Given the description of an element on the screen output the (x, y) to click on. 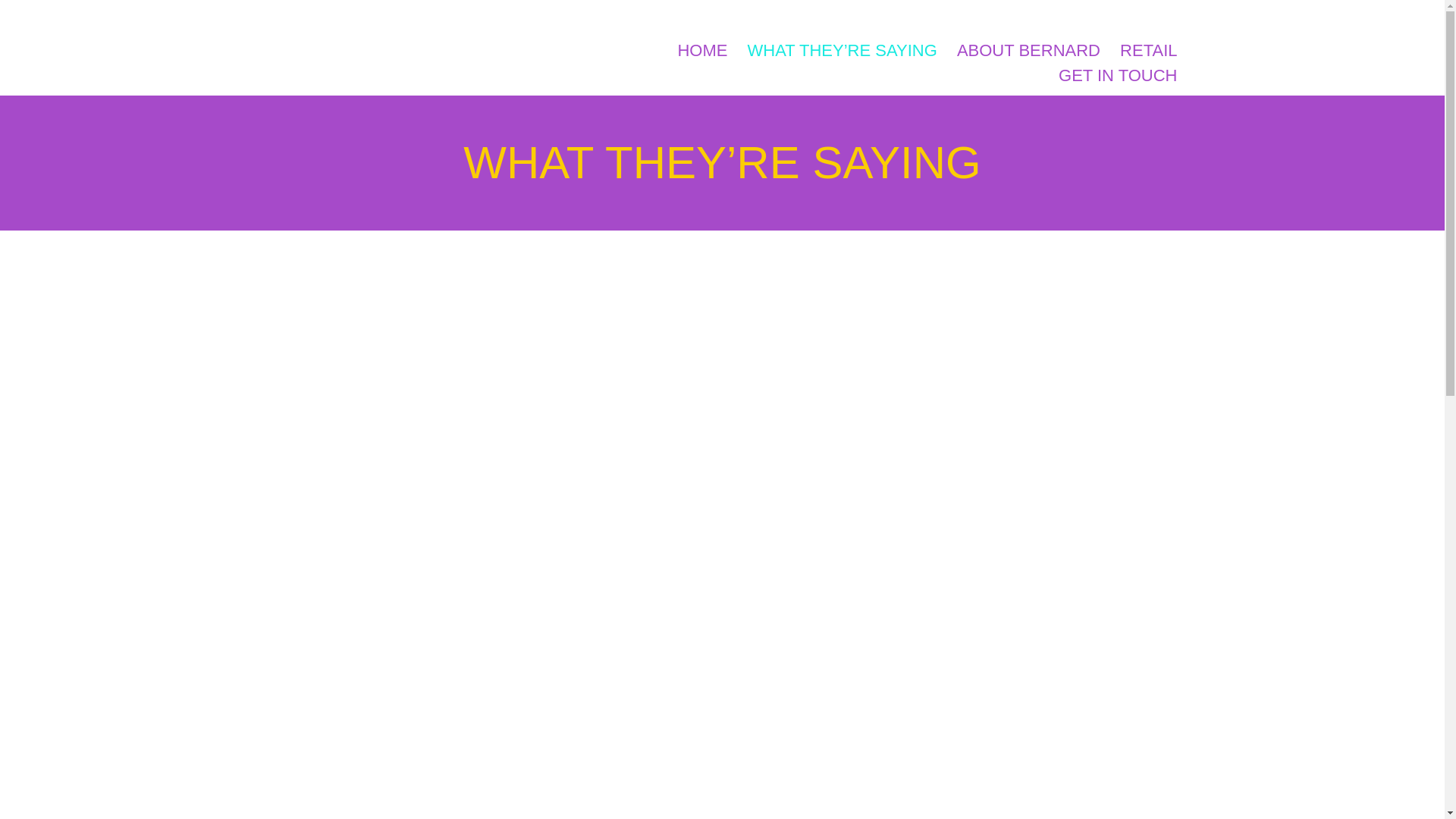
HOME (701, 50)
GET IN TOUCH (1117, 75)
RETAIL (1147, 50)
ABOUT BERNARD (1028, 50)
